Given the description of an element on the screen output the (x, y) to click on. 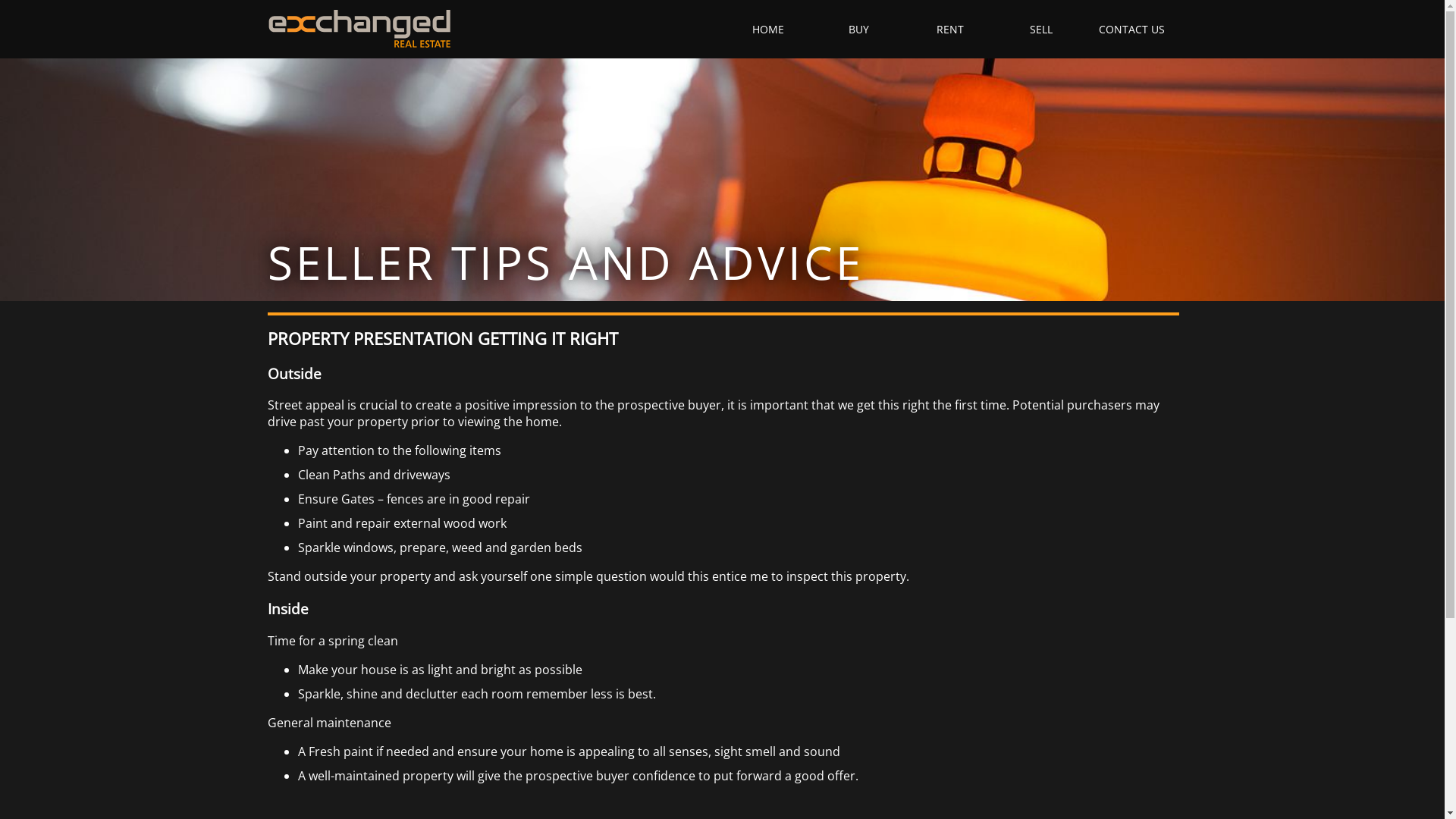
HOME Element type: text (766, 29)
CONTACT US Element type: text (1130, 29)
SELL Element type: text (1039, 29)
RENT Element type: text (948, 29)
BUY Element type: text (857, 29)
